Given the description of an element on the screen output the (x, y) to click on. 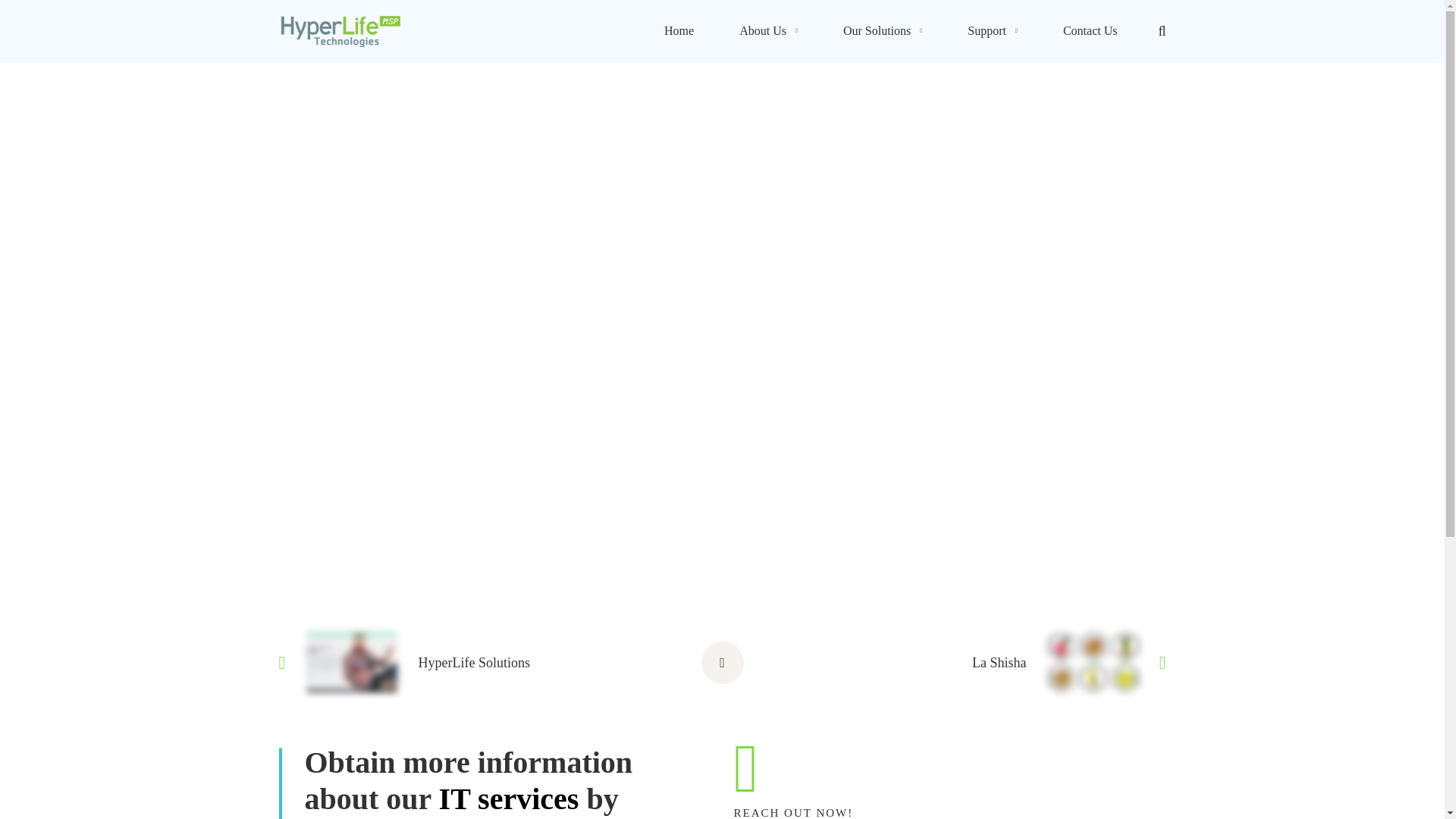
Our Solutions (882, 31)
HyperLife Solutions (442, 662)
About Us (768, 31)
Home (679, 31)
La Shisha (1003, 662)
Support (992, 31)
Contact Us (1090, 31)
